Given the description of an element on the screen output the (x, y) to click on. 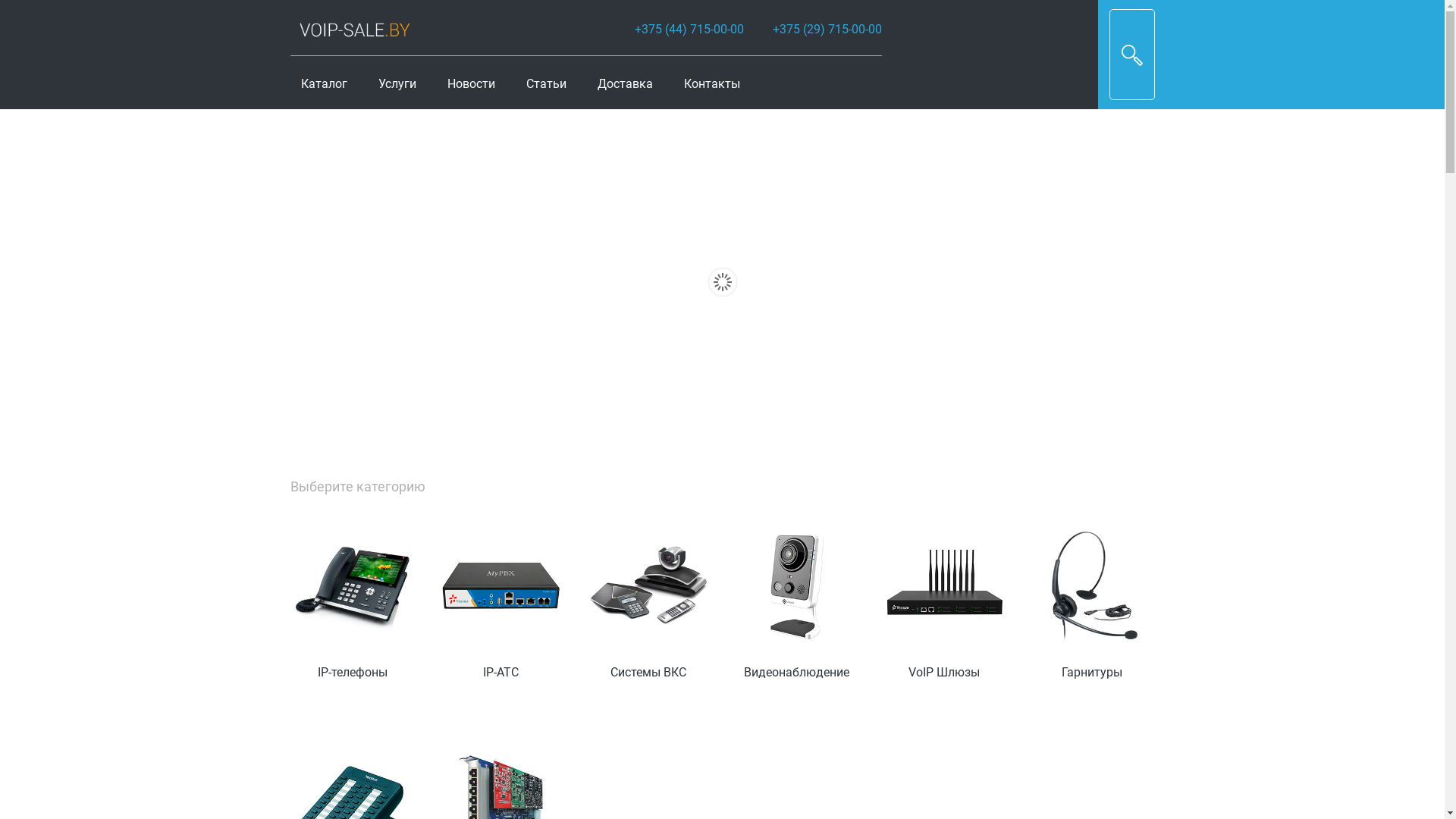
+375 (44) 715-00-00 Element type: text (688, 28)
+375 (29) 715-00-00 Element type: text (826, 28)
